Given the description of an element on the screen output the (x, y) to click on. 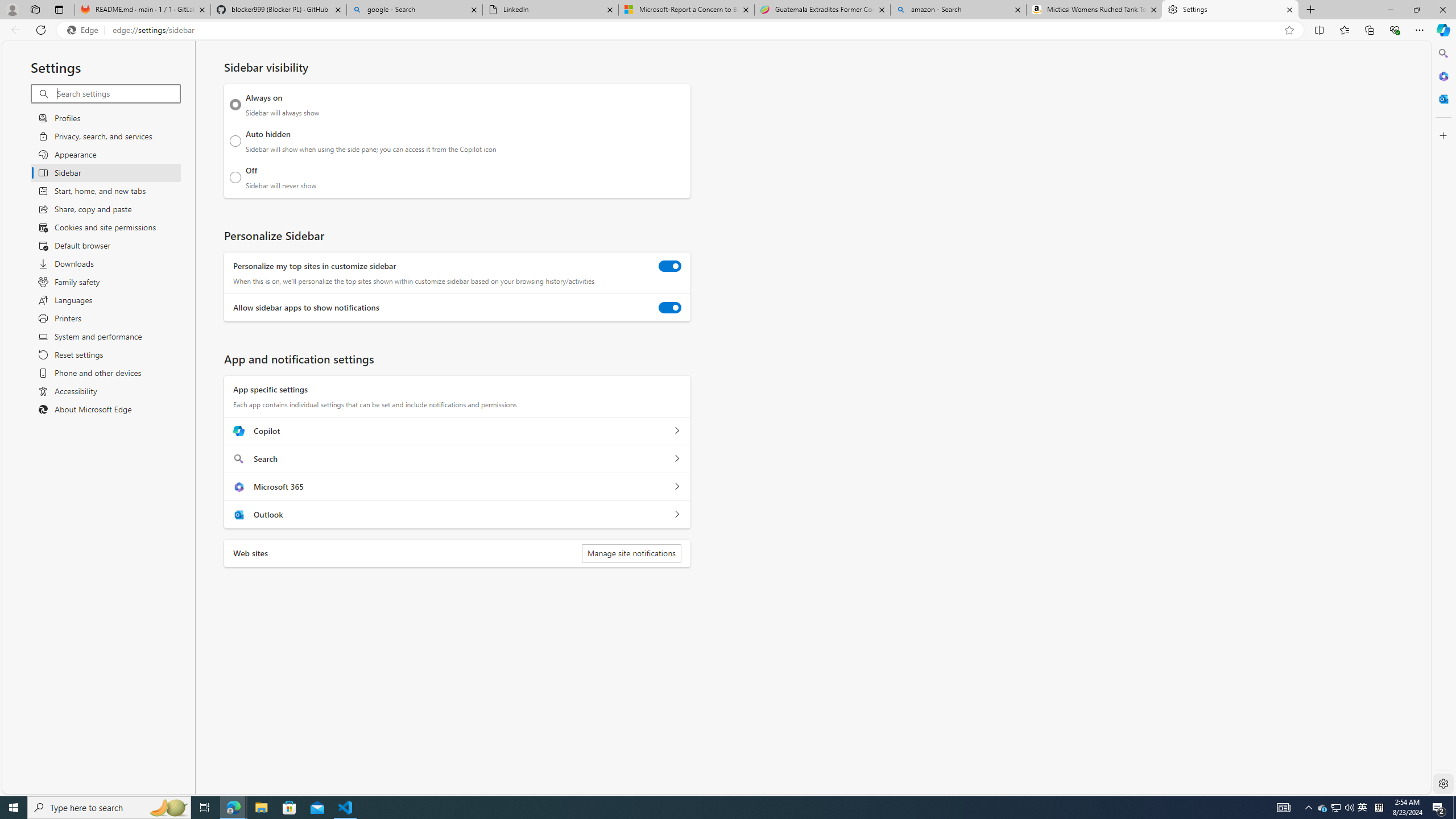
Allow sidebar apps to show notifications (669, 307)
Off Sidebar will never show (235, 177)
Personalize my top sites in customize sidebar (669, 265)
Always on Sidebar will always show (235, 104)
